Given the description of an element on the screen output the (x, y) to click on. 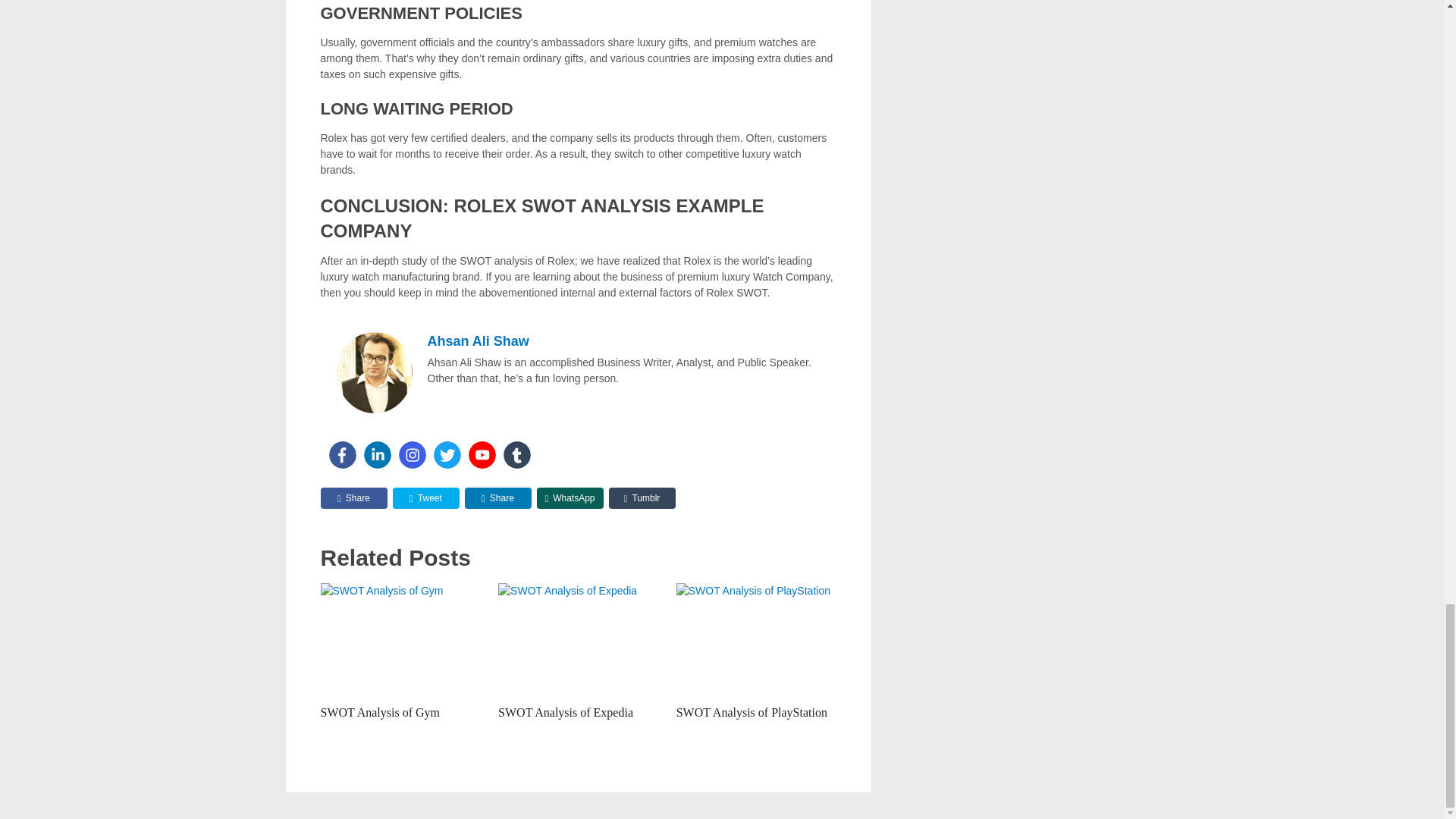
Tweet (426, 497)
Ahsan Ali Shaw (478, 340)
SWOT Analysis of Expedia (577, 639)
Share (353, 497)
SWOT Analysis of Expedia (565, 712)
